Given the description of an element on the screen output the (x, y) to click on. 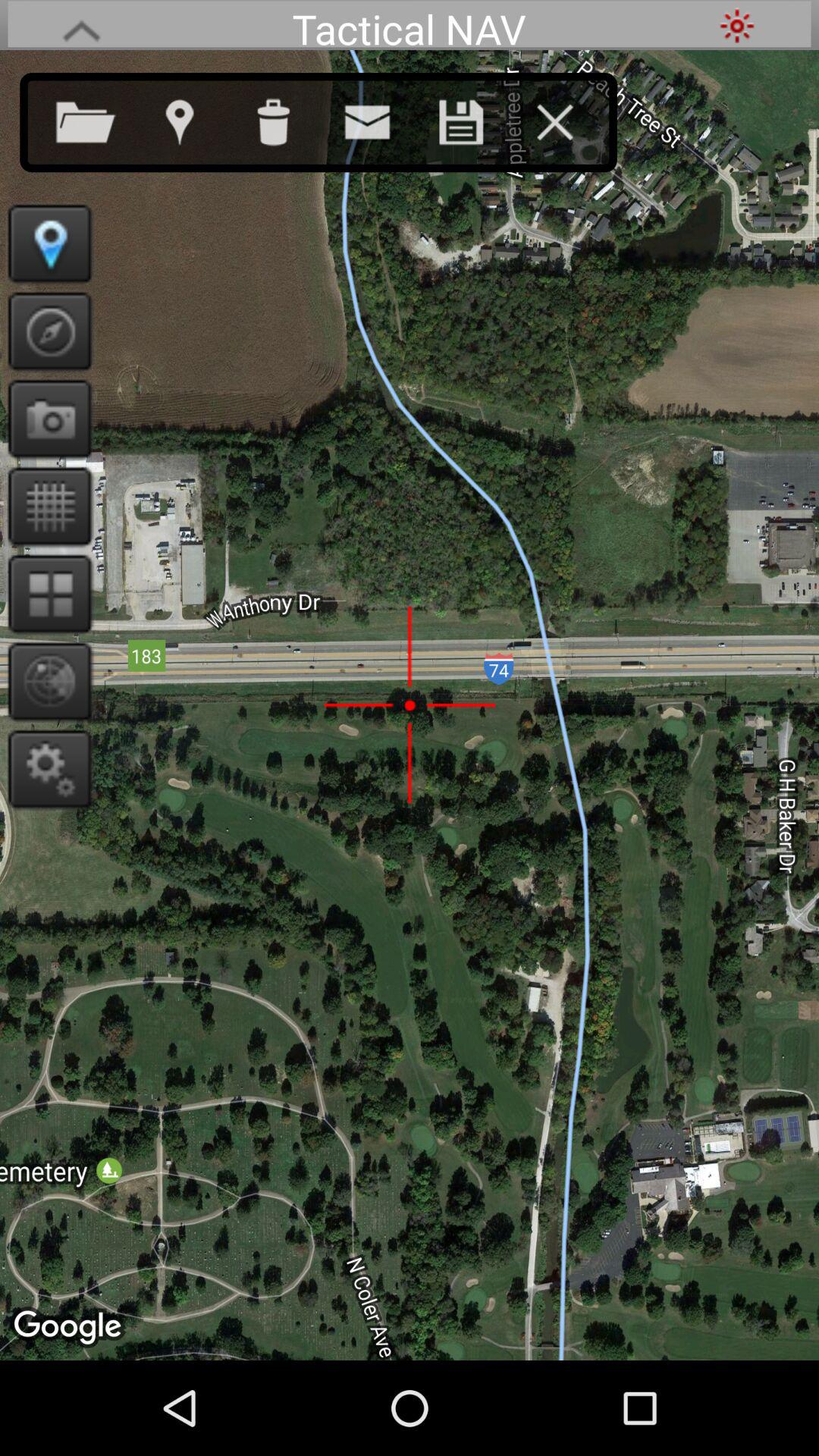
send in e-mail (382, 119)
